Given the description of an element on the screen output the (x, y) to click on. 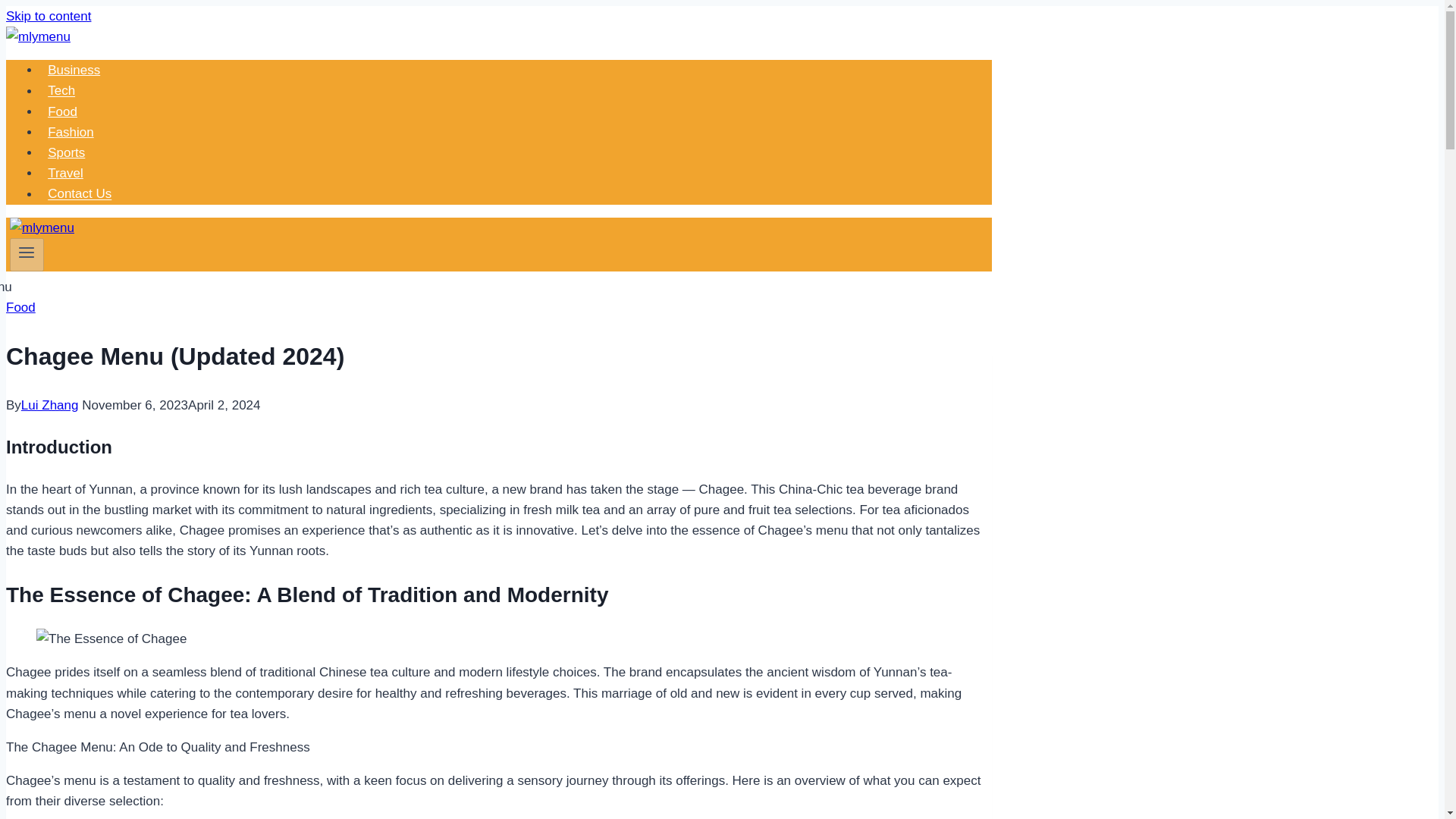
Toggle Menu (26, 254)
Food (19, 307)
Contact Us (79, 193)
Sports (66, 152)
Toggle Menu (25, 252)
Lui Zhang (49, 405)
Fashion (70, 132)
Skip to content (47, 16)
Tech (61, 90)
Travel (65, 173)
Food (62, 111)
Business (73, 70)
Skip to content (47, 16)
